Given the description of an element on the screen output the (x, y) to click on. 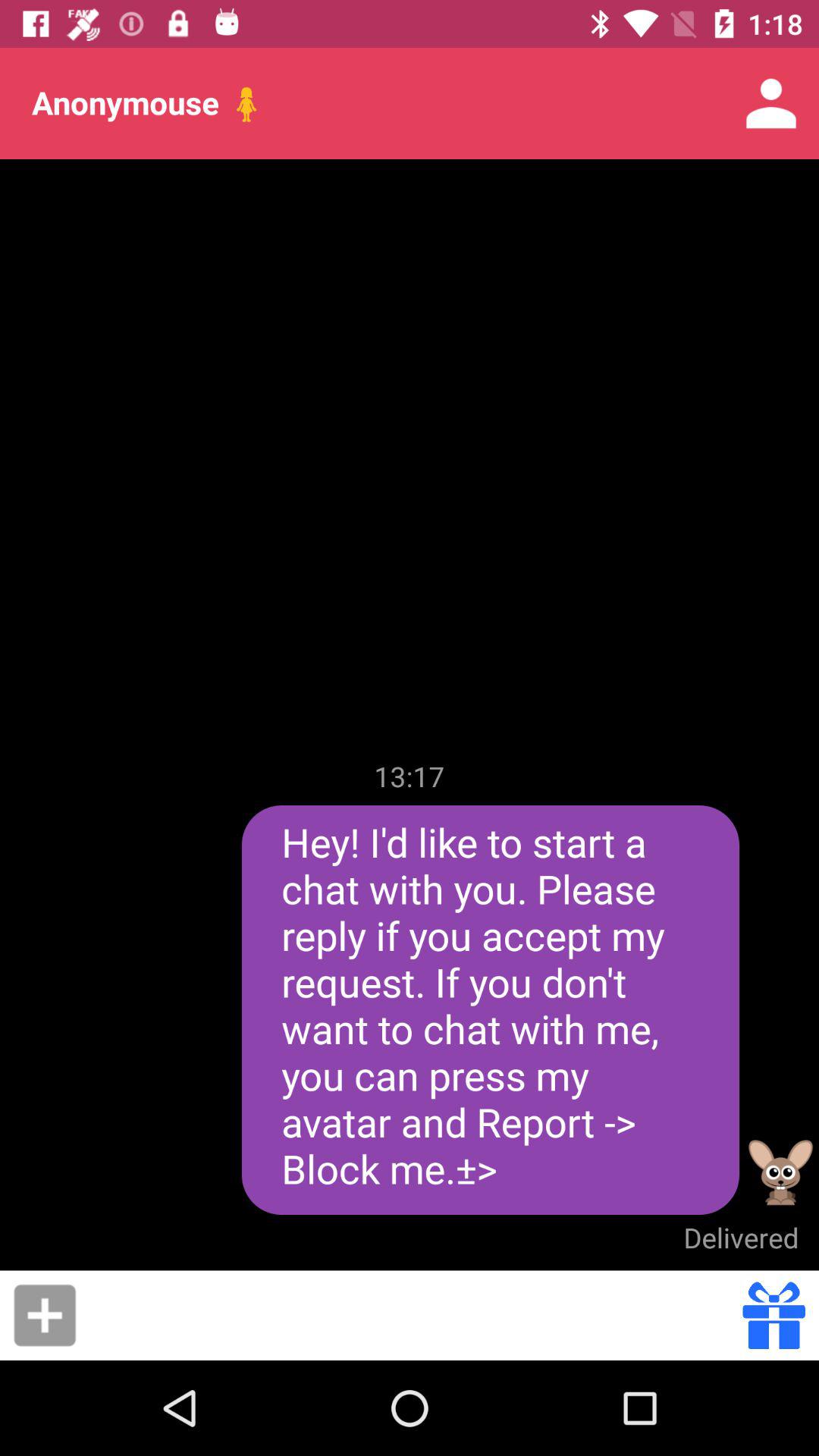
click the delivered (741, 1237)
